Given the description of an element on the screen output the (x, y) to click on. 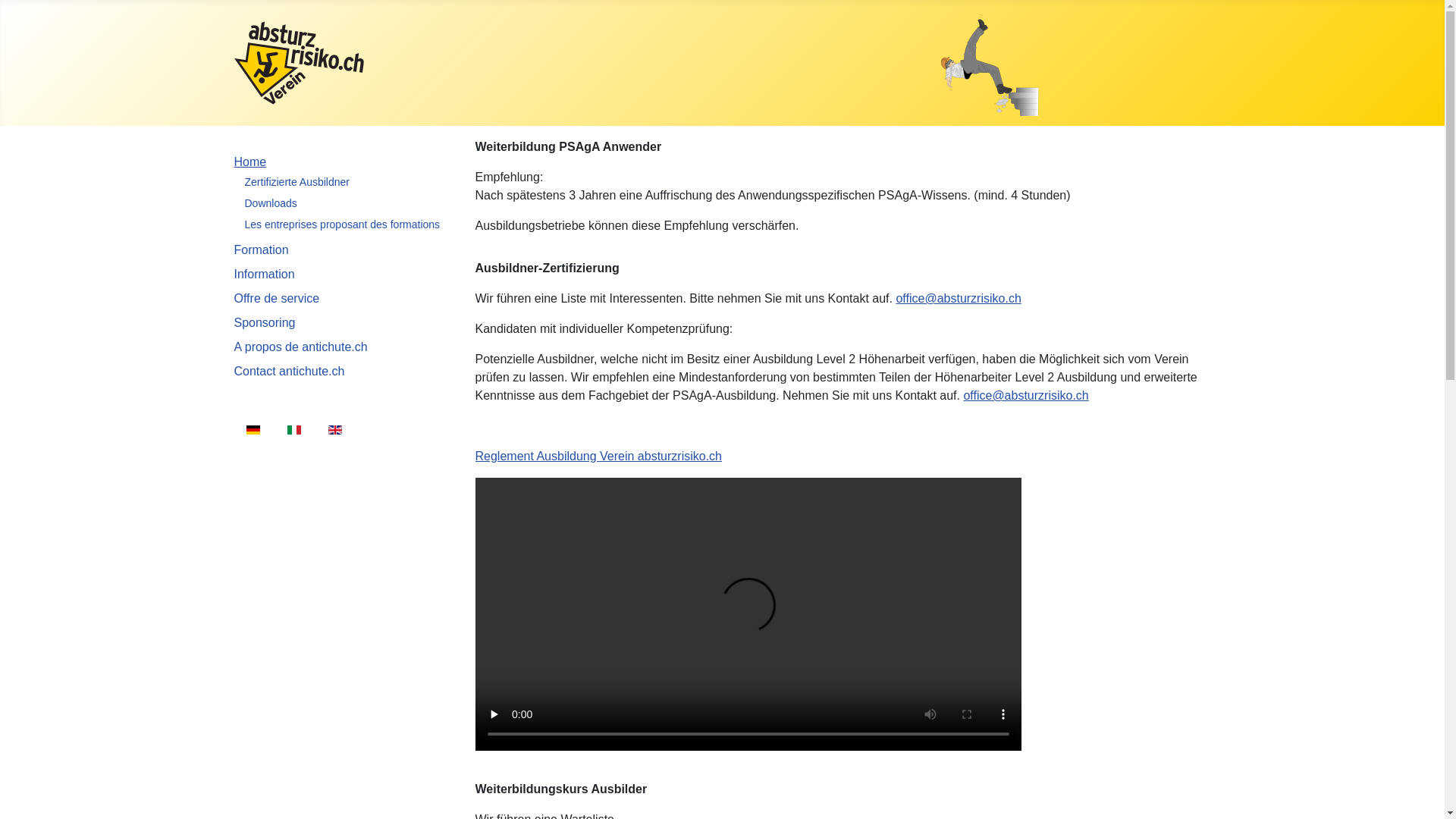
Reglement Ausbildung Verein absturzrisiko.ch Element type: text (597, 455)
Offre de service Element type: text (276, 297)
de Element type: hover (252, 429)
English (UK) Element type: hover (335, 429)
it Element type: hover (294, 429)
Les entreprises proposant des formations Element type: text (341, 224)
Zertifizierte Ausbildner Element type: text (296, 181)
Formation Element type: text (260, 249)
A propos de antichute.ch Element type: text (300, 346)
Information Element type: text (263, 273)
office@absturzrisiko.ch Element type: text (957, 297)
Home Element type: text (249, 161)
Sponsoring Element type: text (263, 322)
office@absturzrisiko.ch Element type: text (1025, 395)
Contact antichute.ch Element type: text (288, 370)
Downloads Element type: text (270, 203)
